Given the description of an element on the screen output the (x, y) to click on. 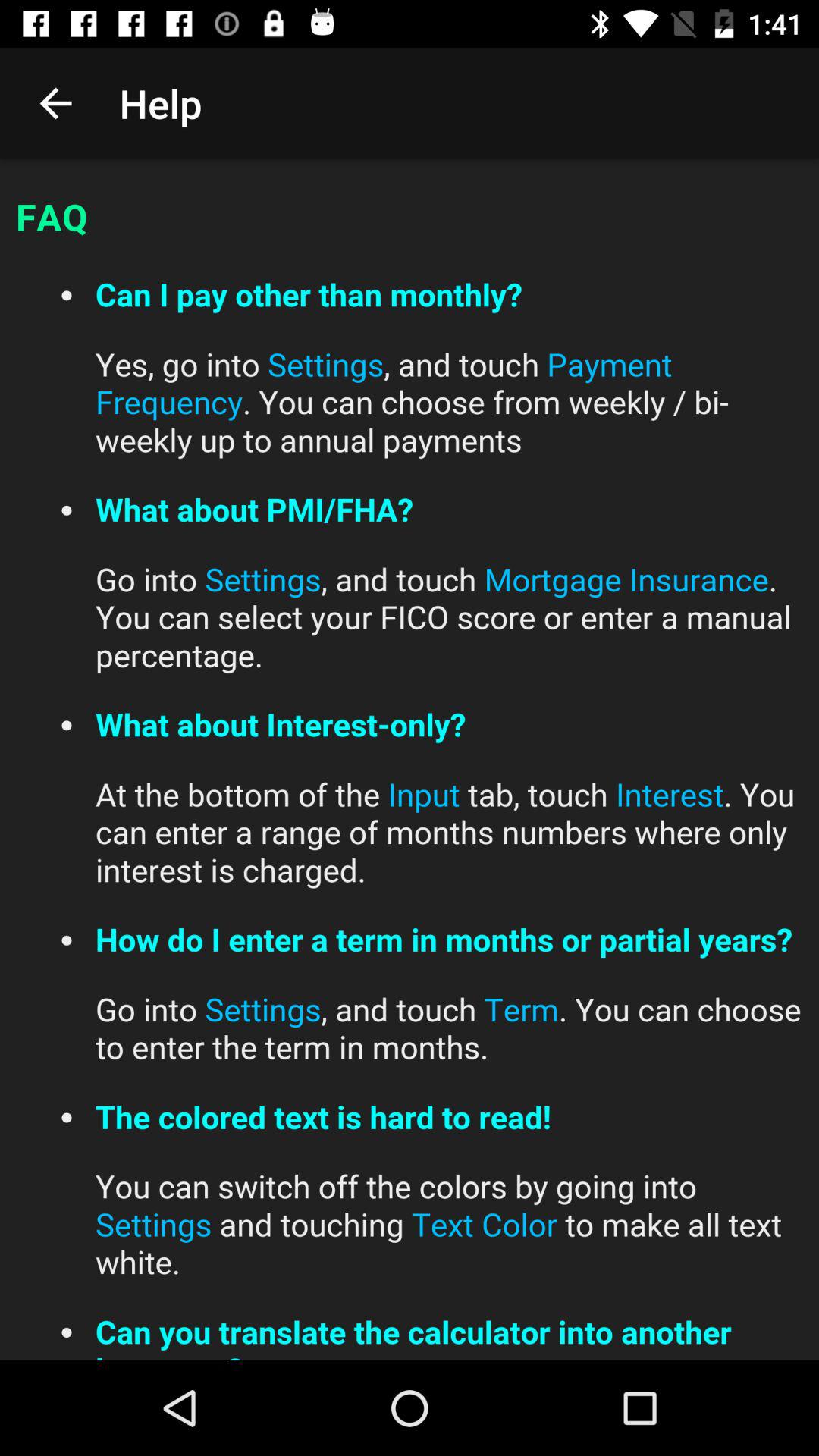
faq 's (409, 759)
